Given the description of an element on the screen output the (x, y) to click on. 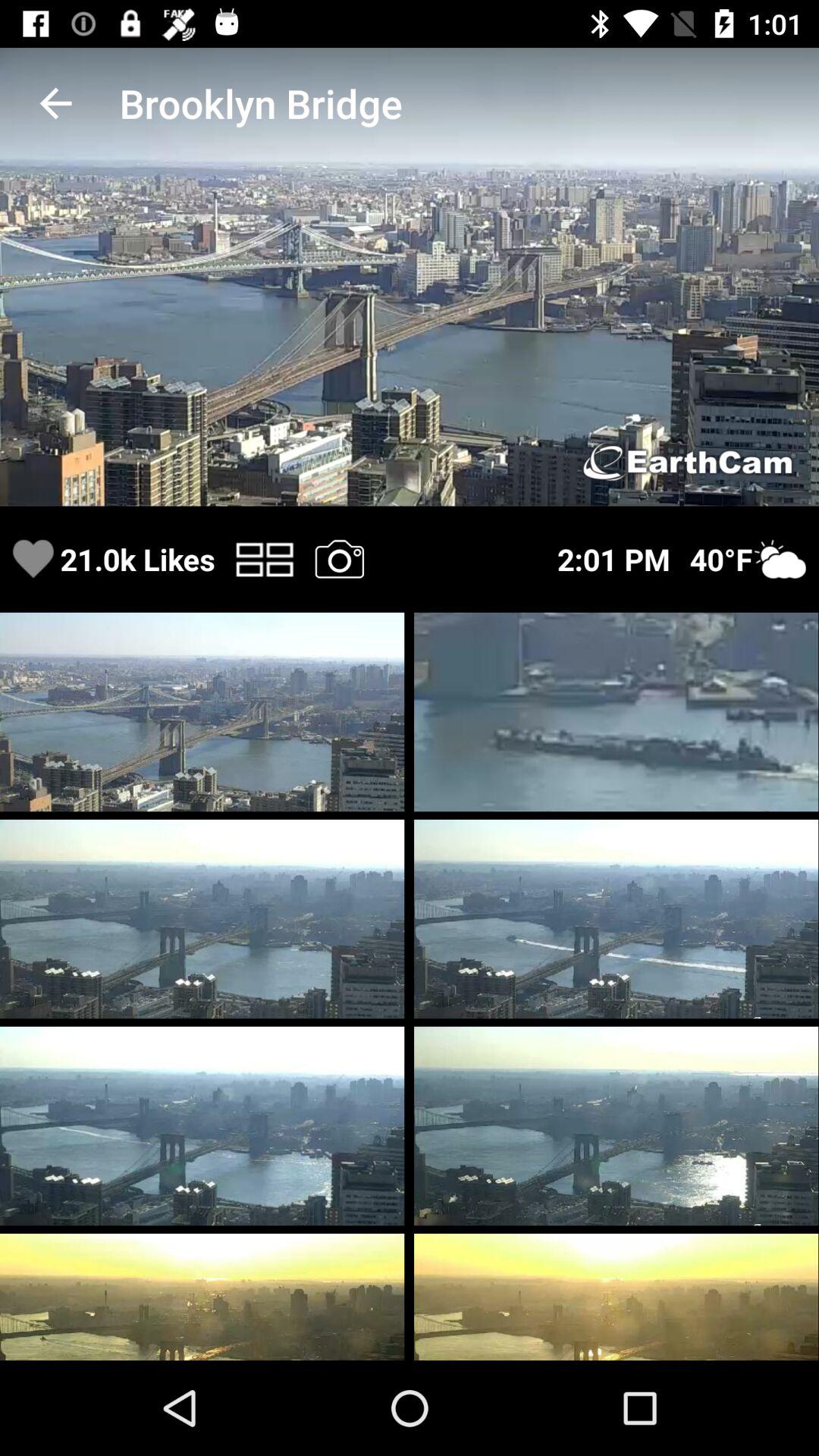
go to rating (33, 559)
